Given the description of an element on the screen output the (x, y) to click on. 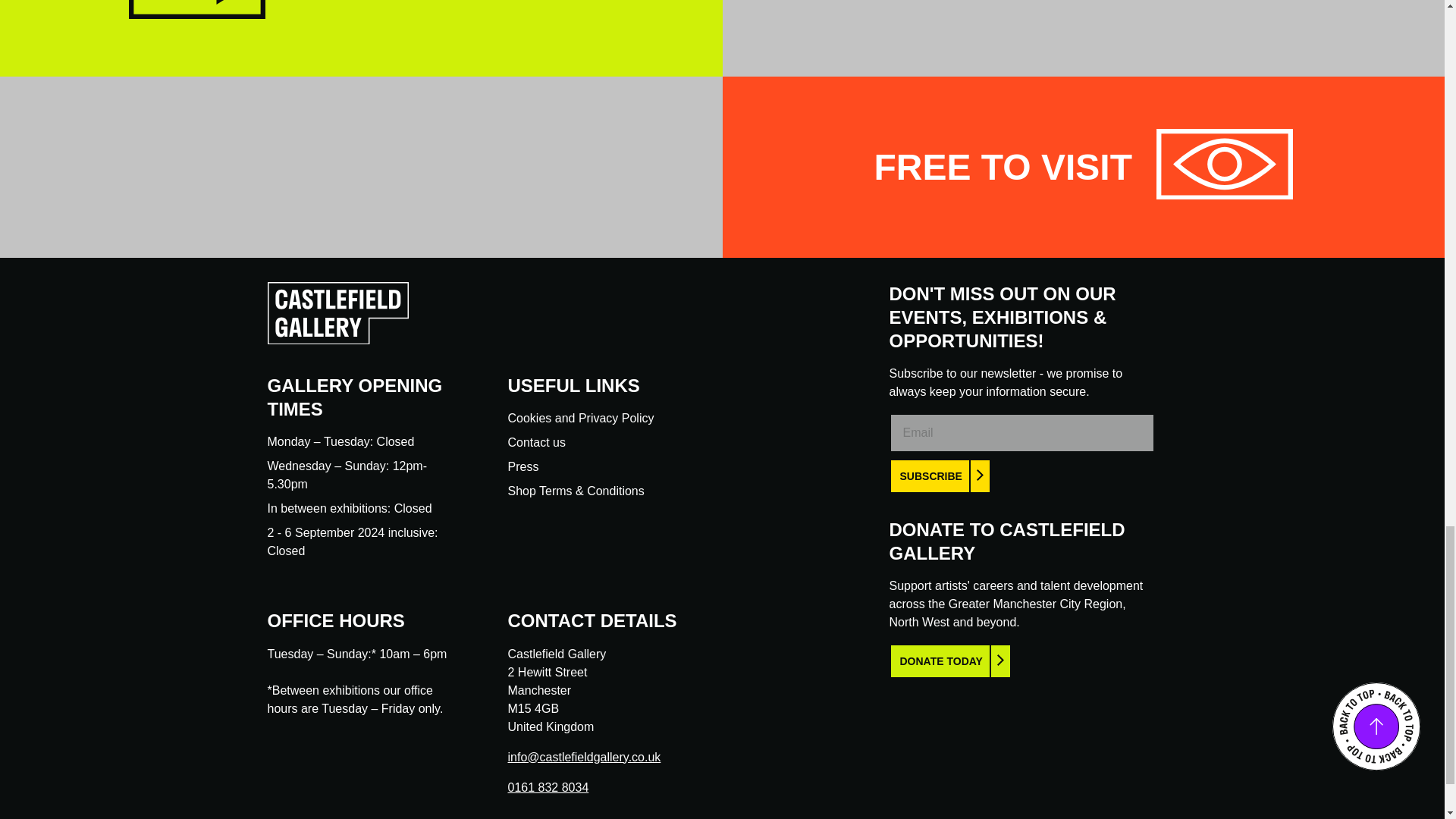
Contact us (537, 441)
Castlefield Gallery on Twitter (542, 813)
Castlefield Gallery on Facebook (515, 813)
0161 832 8034 (548, 787)
Click to go back home (336, 339)
Castlefield Gallery on Instagram (570, 813)
Castlefield Gallery on Facebook (515, 813)
Cookies and Privacy Policy (580, 418)
Castlefield Gallery on You Tube (597, 813)
Press (523, 466)
